Given the description of an element on the screen output the (x, y) to click on. 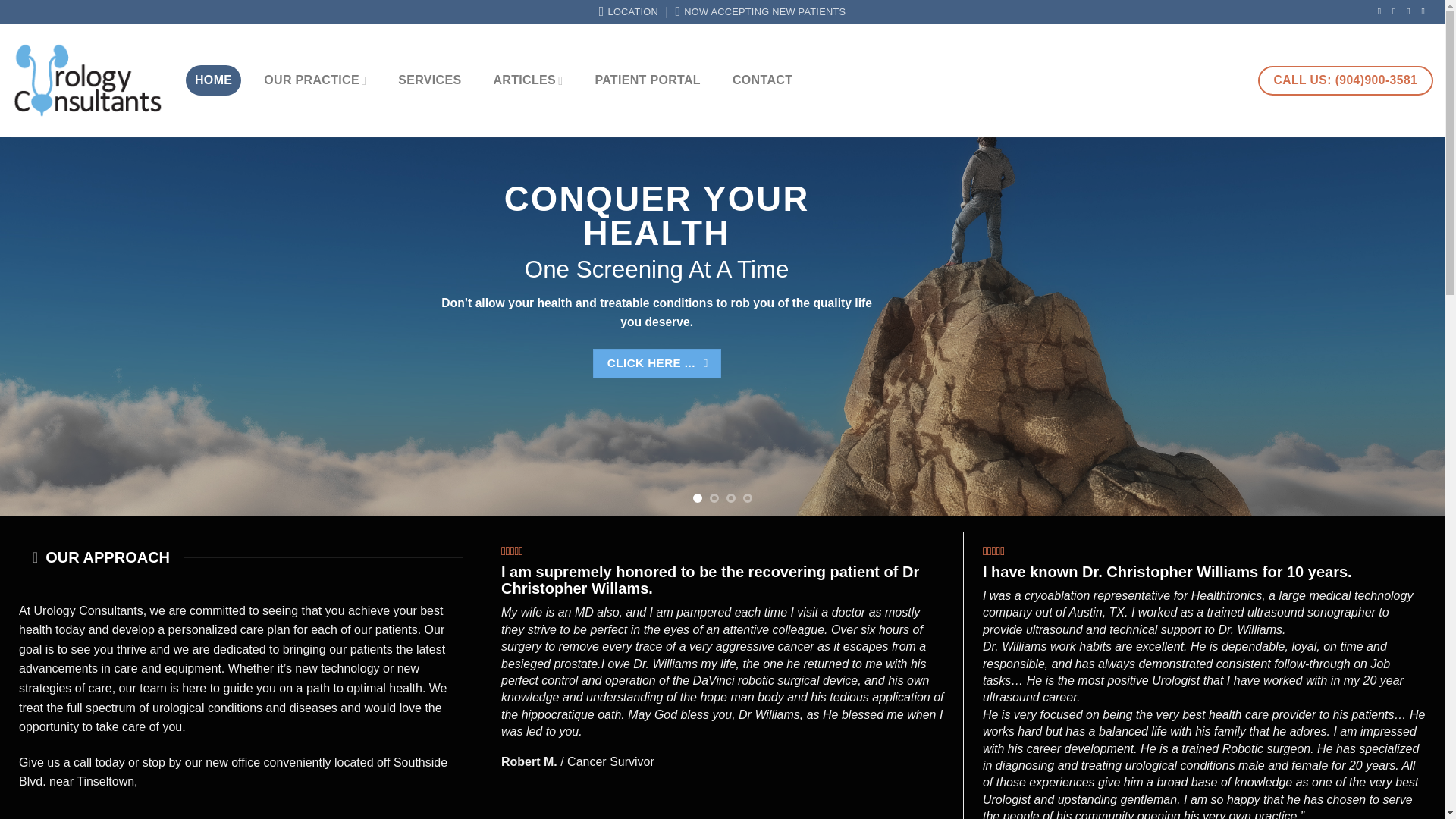
CONTACT (762, 80)
NOW ACCEPTING NEW PATIENTS (760, 12)
8708 Perimeter Park Blvd. Suite 4 Jacksonville, Fl 32216 (628, 12)
CLICK HERE ... (656, 363)
HOME (213, 80)
Urology Consultants Inc (87, 79)
ARTICLES (527, 80)
PATIENT PORTAL (647, 80)
SERVICES (429, 80)
OUR PRACTICE (314, 80)
